Given the description of an element on the screen output the (x, y) to click on. 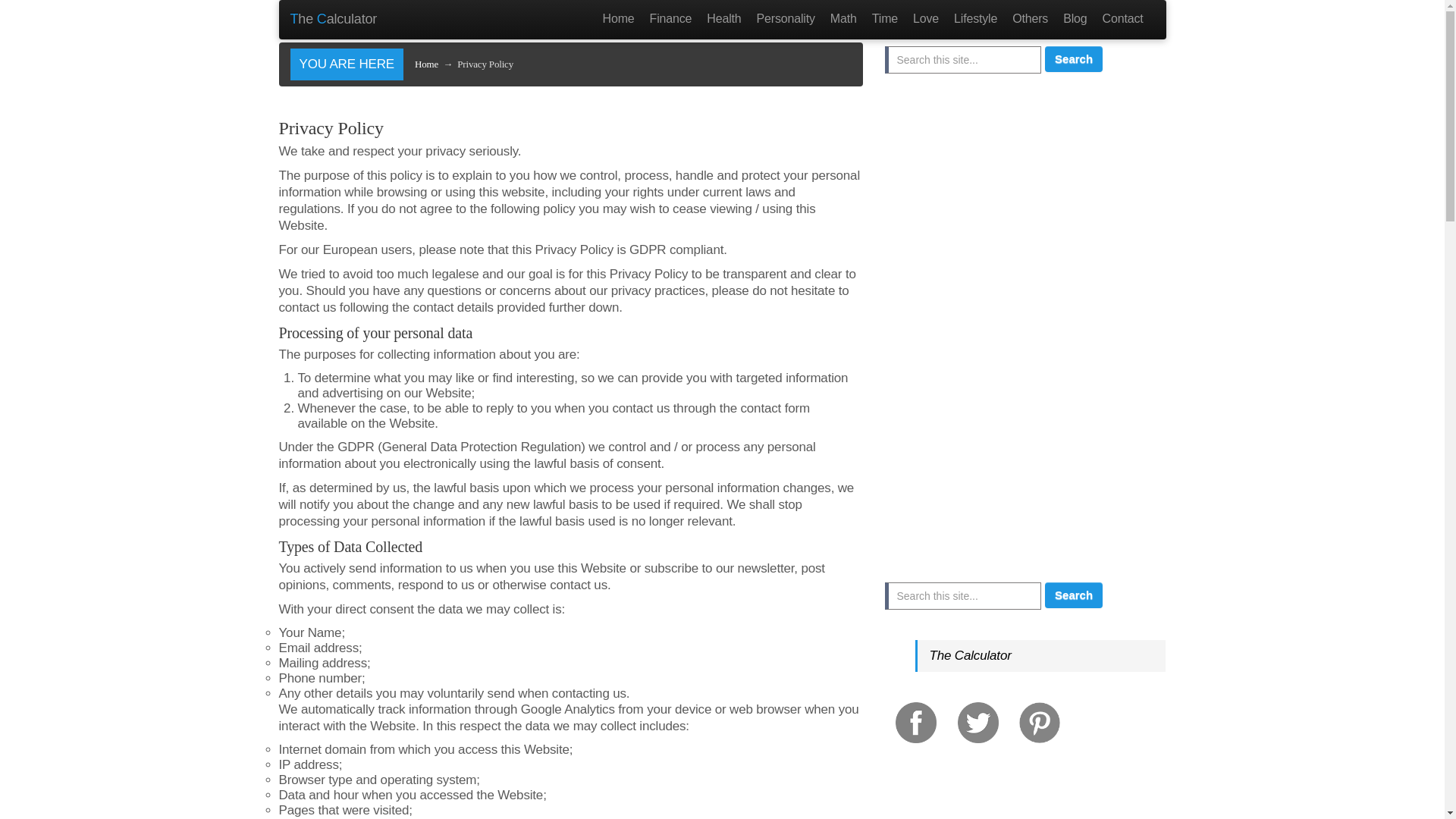
Personality (785, 18)
Time (884, 18)
Search (1073, 58)
The Calculator (969, 655)
Health (723, 18)
Contact (1122, 18)
Finance (671, 18)
Search (1073, 595)
Lifestyle (975, 18)
Home (426, 63)
The Calculator (333, 19)
Love (925, 18)
Blog (1074, 18)
Others (1029, 18)
Home (618, 18)
